Given the description of an element on the screen output the (x, y) to click on. 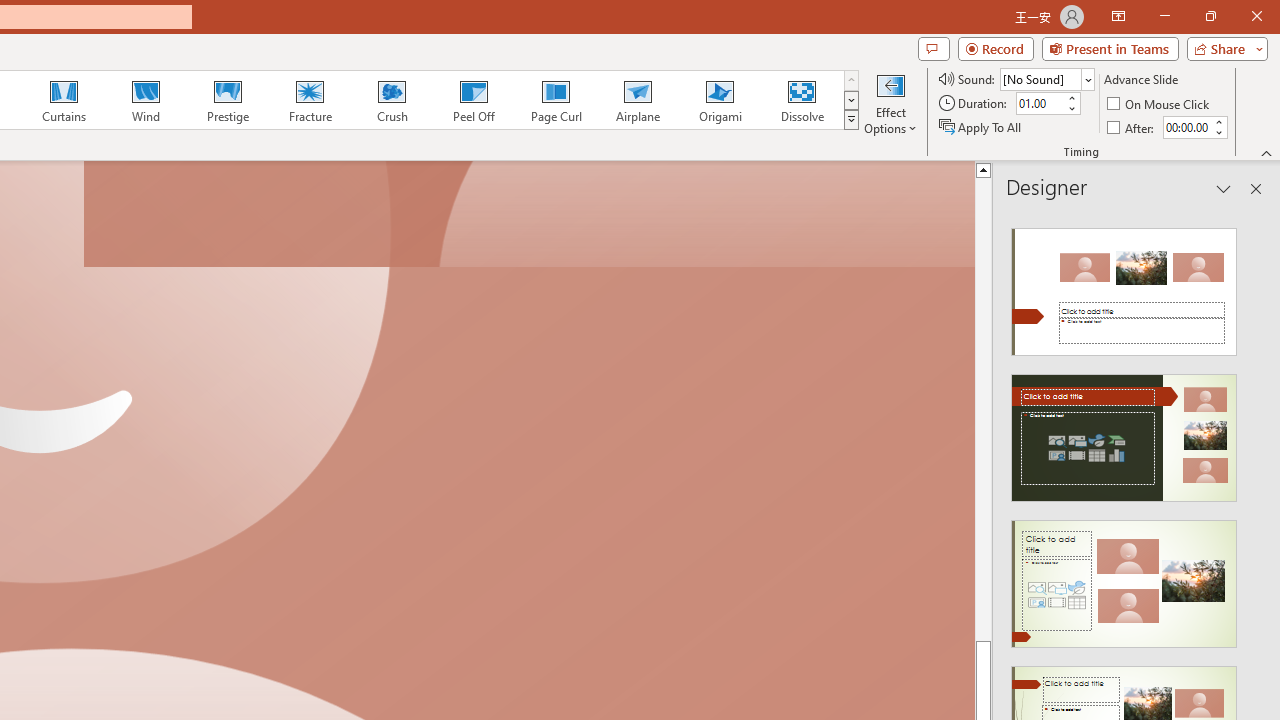
Close pane (1256, 188)
After (1186, 127)
Transition Effects (850, 120)
Share (1223, 48)
Row Down (850, 100)
Open (1087, 79)
Origami (719, 100)
Sound (1046, 78)
Curtains (63, 100)
Comments (933, 48)
Present in Teams (1109, 48)
